Given the description of an element on the screen output the (x, y) to click on. 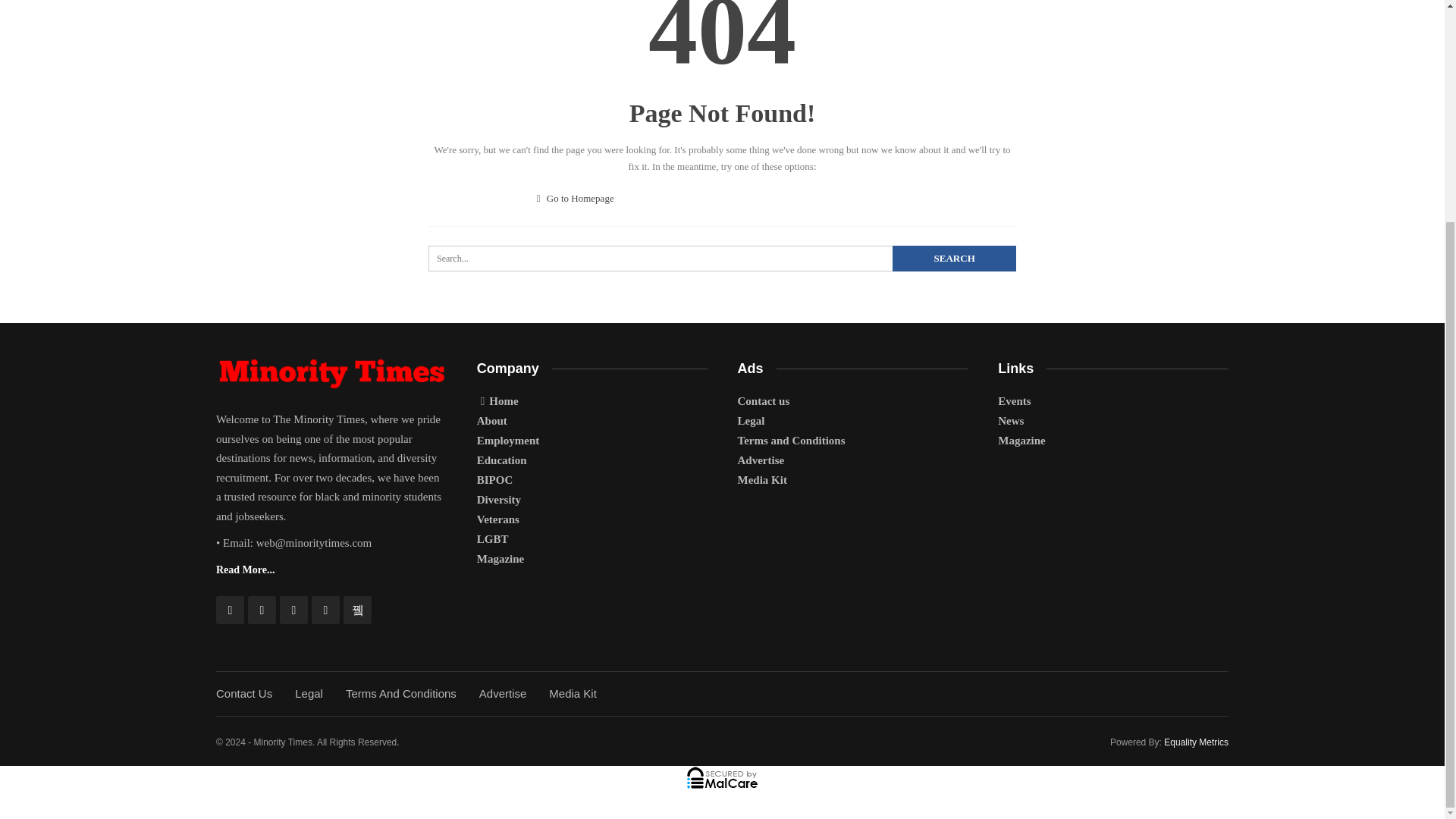
Search (954, 258)
Go to Homepage (575, 197)
Search (954, 258)
Search (954, 258)
Read More... (245, 569)
Search for: (722, 258)
